Given the description of an element on the screen output the (x, y) to click on. 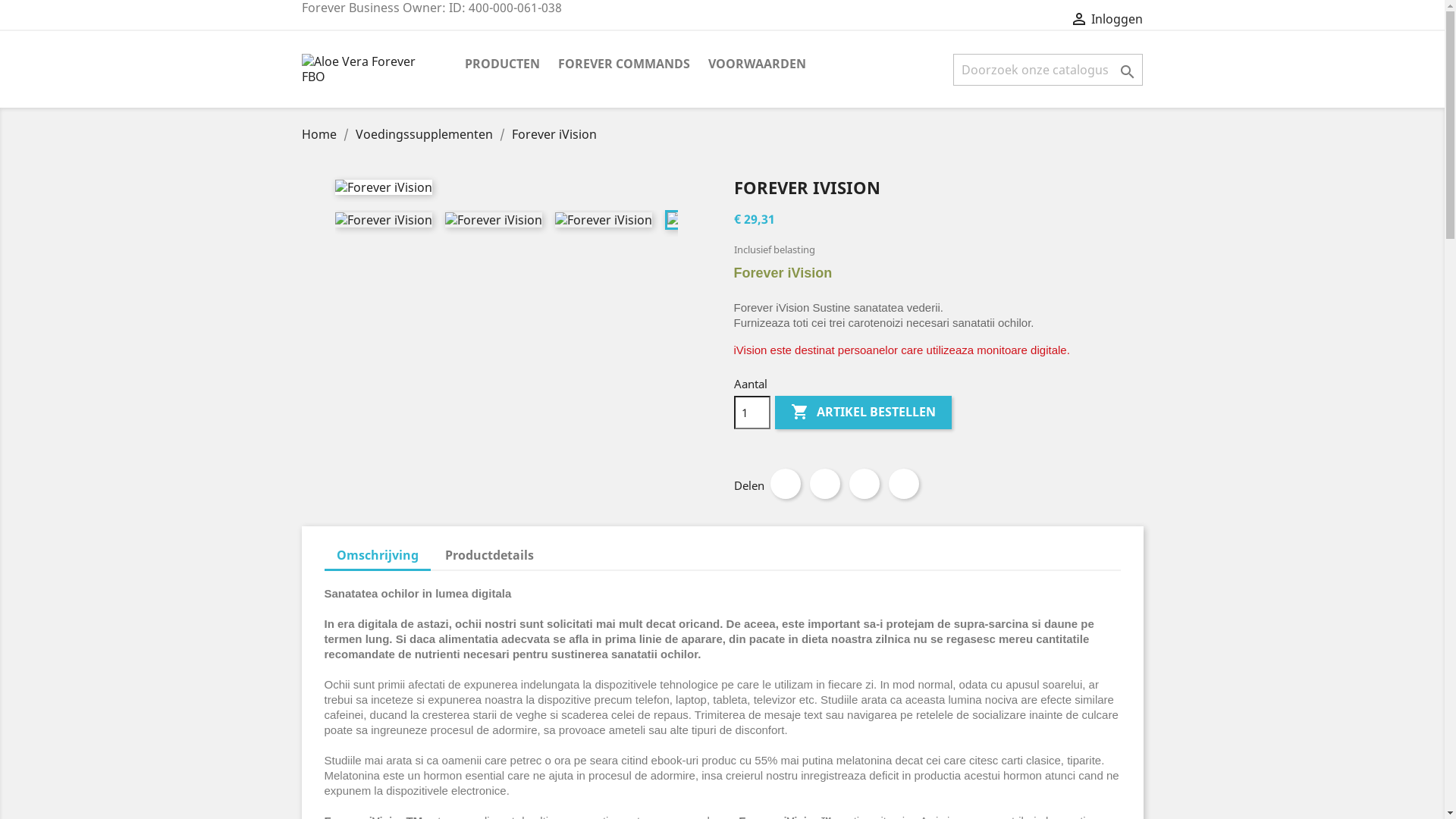
Forever iVision Element type: hover (383, 219)
Tweet Element type: text (824, 483)
Pinterest Element type: text (903, 483)
Omschrijving Element type: text (377, 556)
Forever iVision Element type: text (553, 133)
Forever iVision Element type: hover (383, 186)
Productdetails Element type: text (489, 554)
Delen Element type: text (785, 483)
Forever iVision Element type: hover (603, 219)
VOORWAARDEN Element type: text (756, 64)
Google+ Element type: text (864, 483)
Home Element type: text (320, 133)
Voedingssupplementen Element type: text (424, 133)
FOREVER COMMANDS Element type: text (623, 64)
Forever iVision Element type: hover (492, 219)
Forever iVision Element type: hover (714, 219)
PRODUCTEN Element type: text (501, 64)
